Given the description of an element on the screen output the (x, y) to click on. 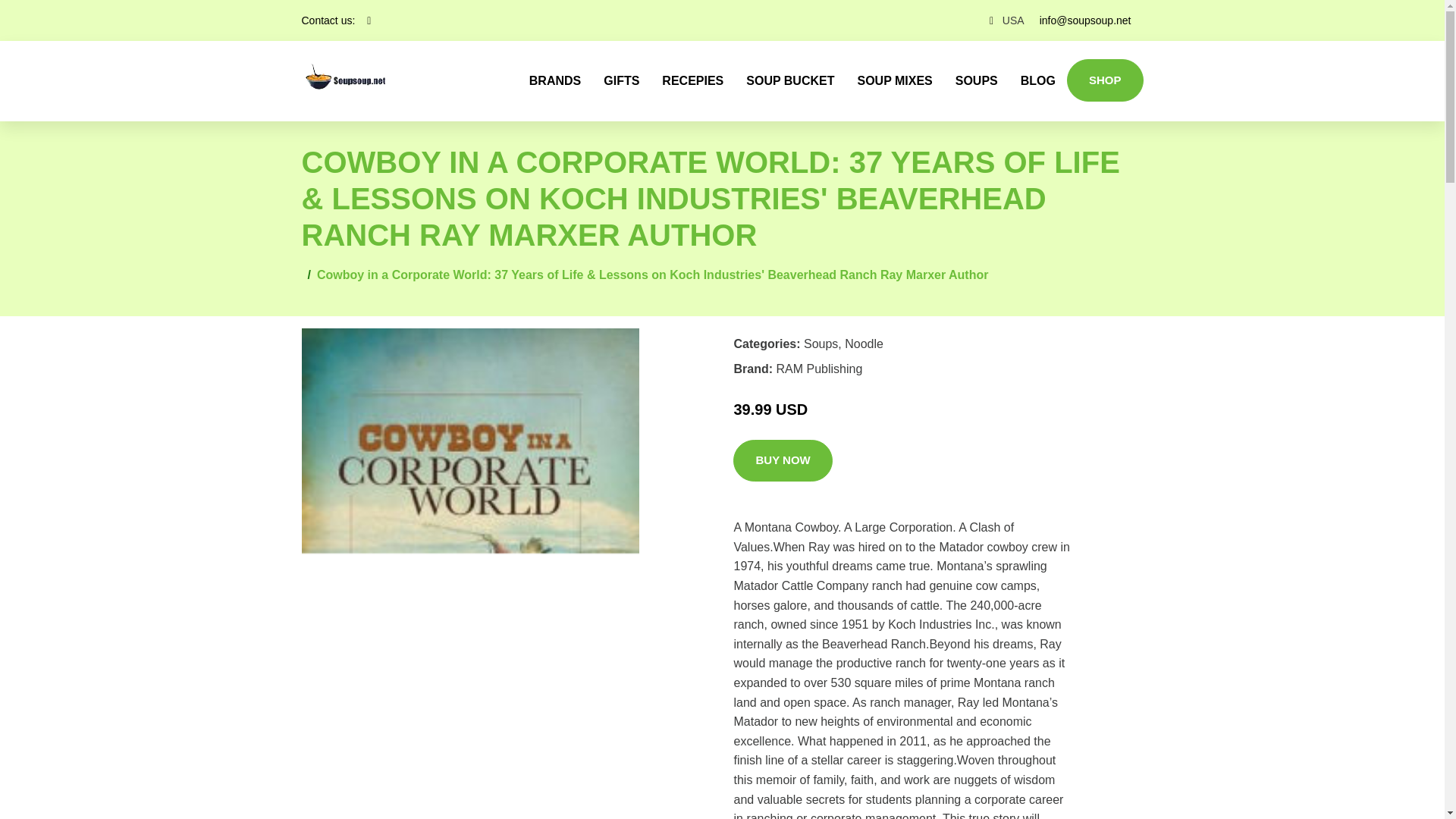
SHOP (1104, 79)
Soups (820, 343)
SOUP BUCKET (790, 80)
Noodle (863, 343)
SOUP MIXES (894, 80)
USA (1014, 20)
RECEPIES (692, 80)
BUY NOW (782, 460)
BRANDS (555, 80)
